Given the description of an element on the screen output the (x, y) to click on. 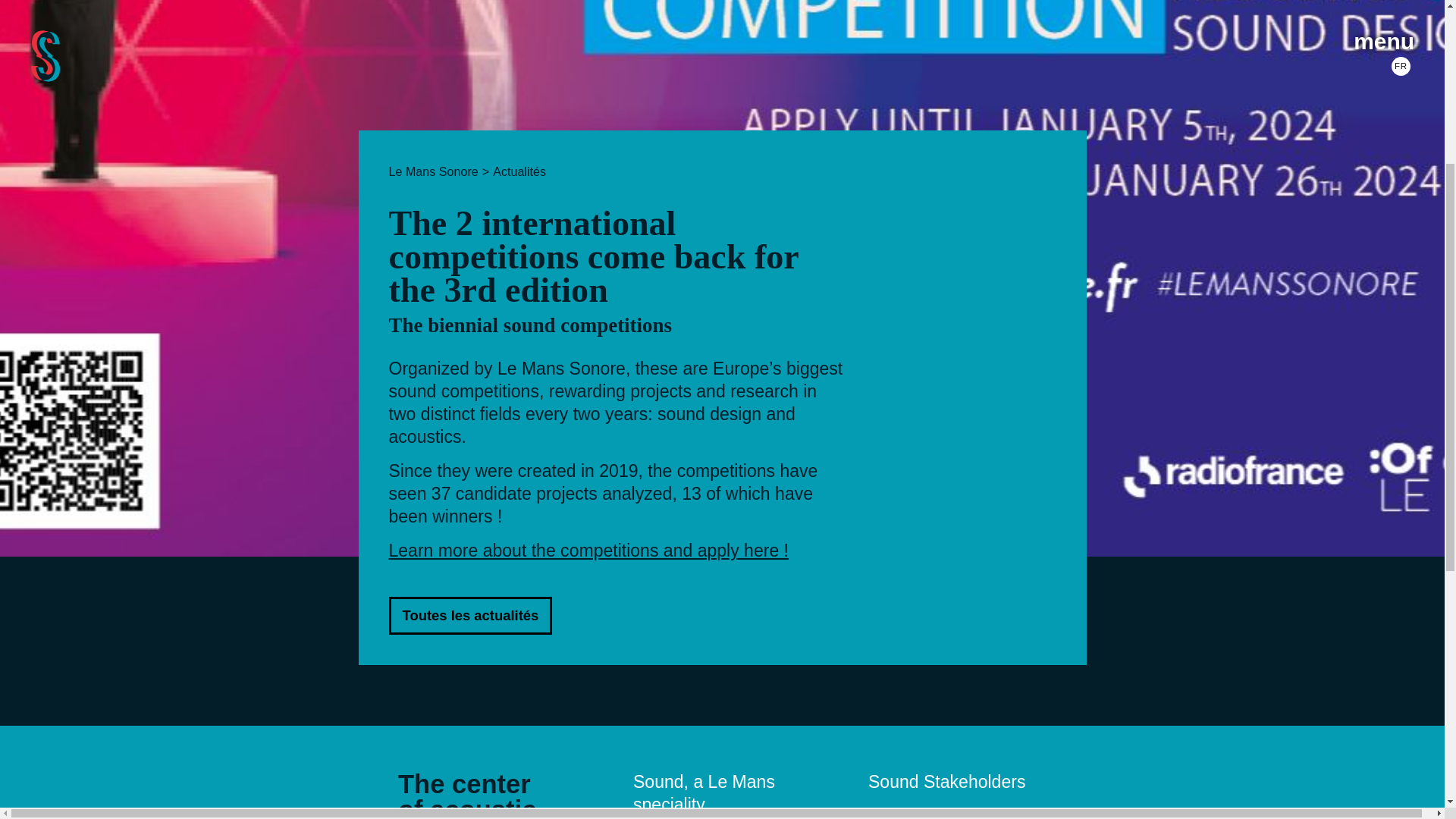
Learn more about the competitions and apply here ! (588, 550)
Sound, a Le Mans speciality (703, 793)
Sound Stakeholders (946, 781)
Le Mans Sonore (432, 171)
